Given the description of an element on the screen output the (x, y) to click on. 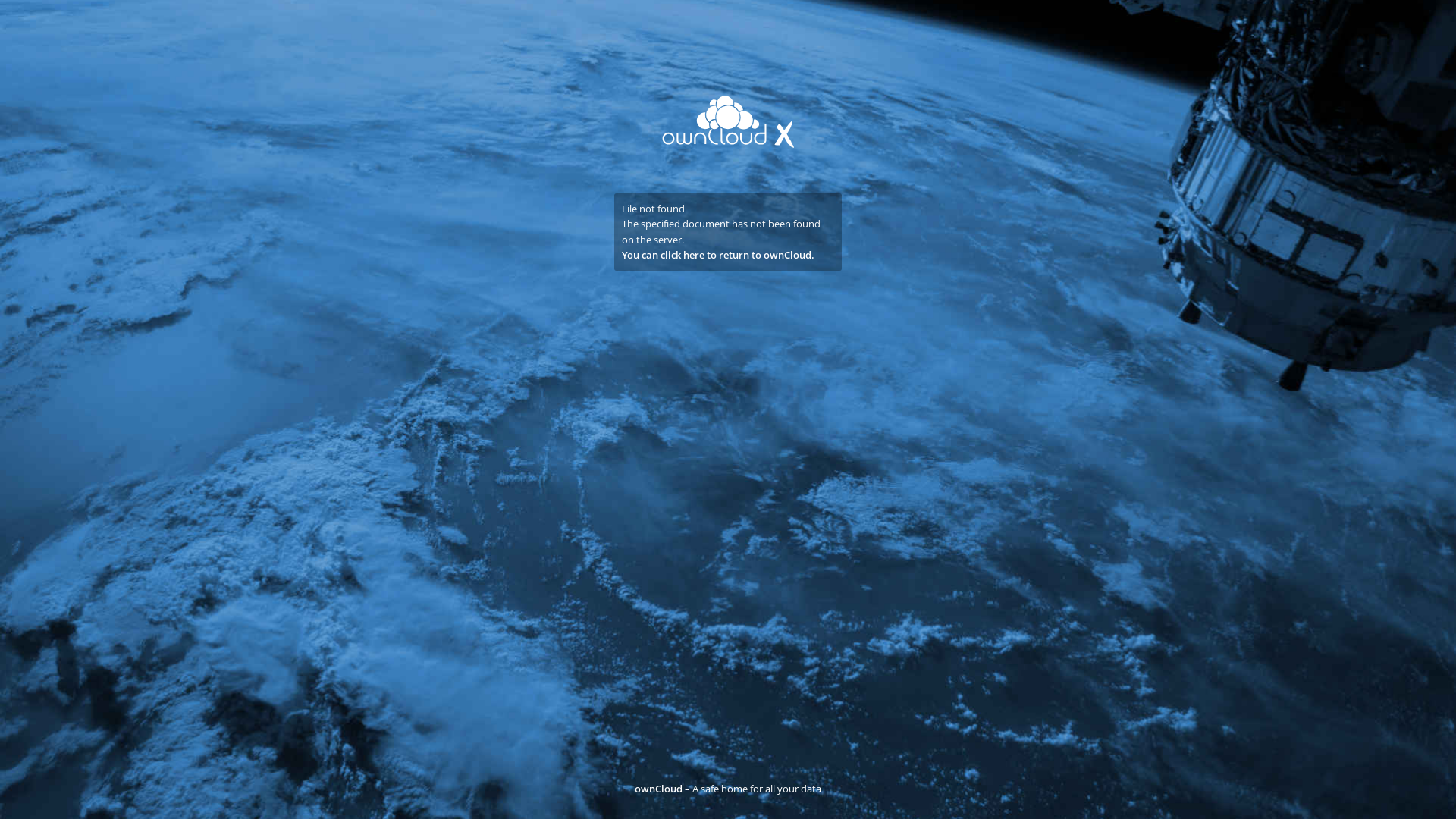
ownCloud Element type: text (658, 788)
You can click here to return to ownCloud. Element type: text (717, 254)
